Given the description of an element on the screen output the (x, y) to click on. 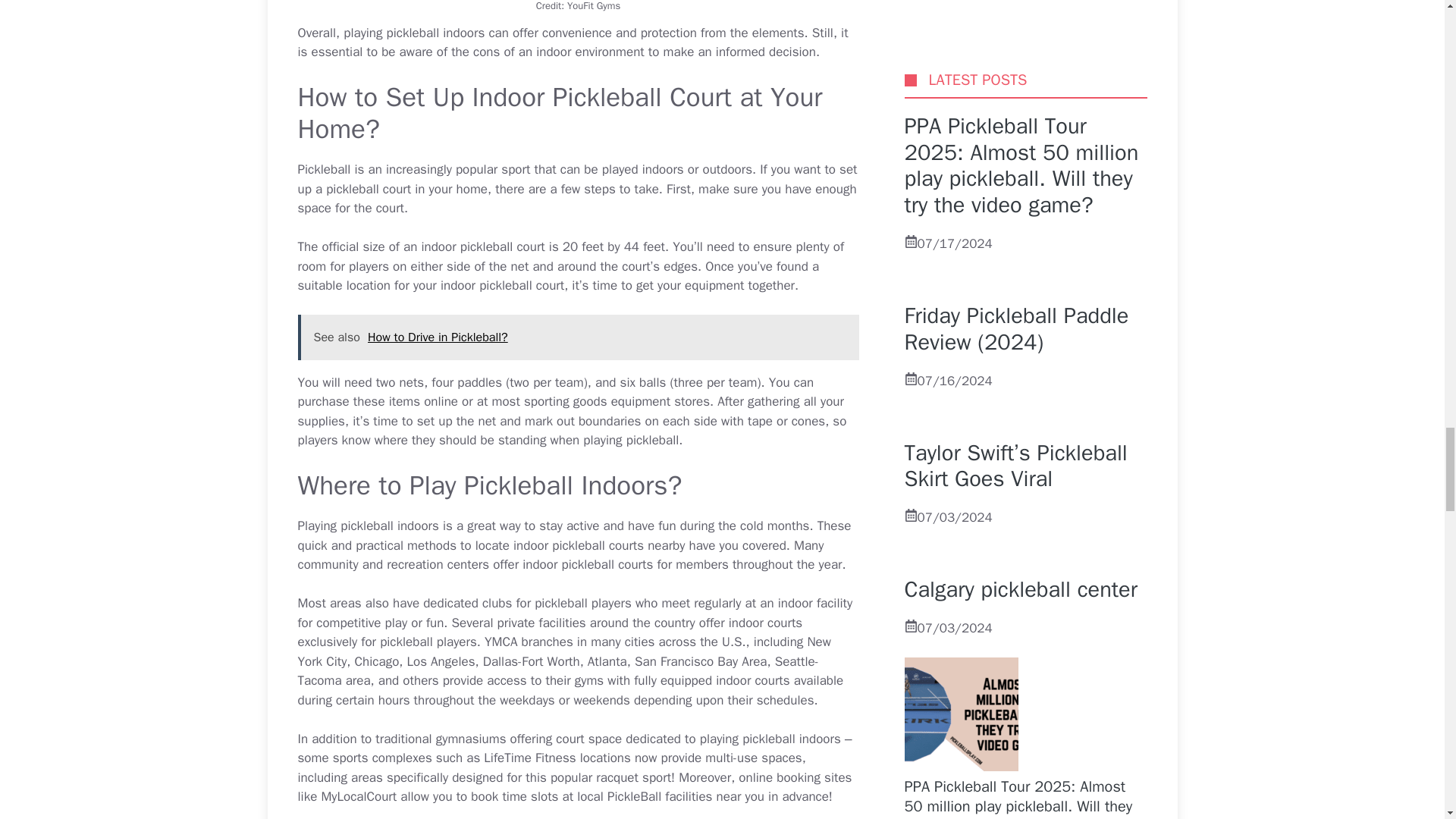
See also  How to Drive in Pickleball? (578, 337)
